Given the description of an element on the screen output the (x, y) to click on. 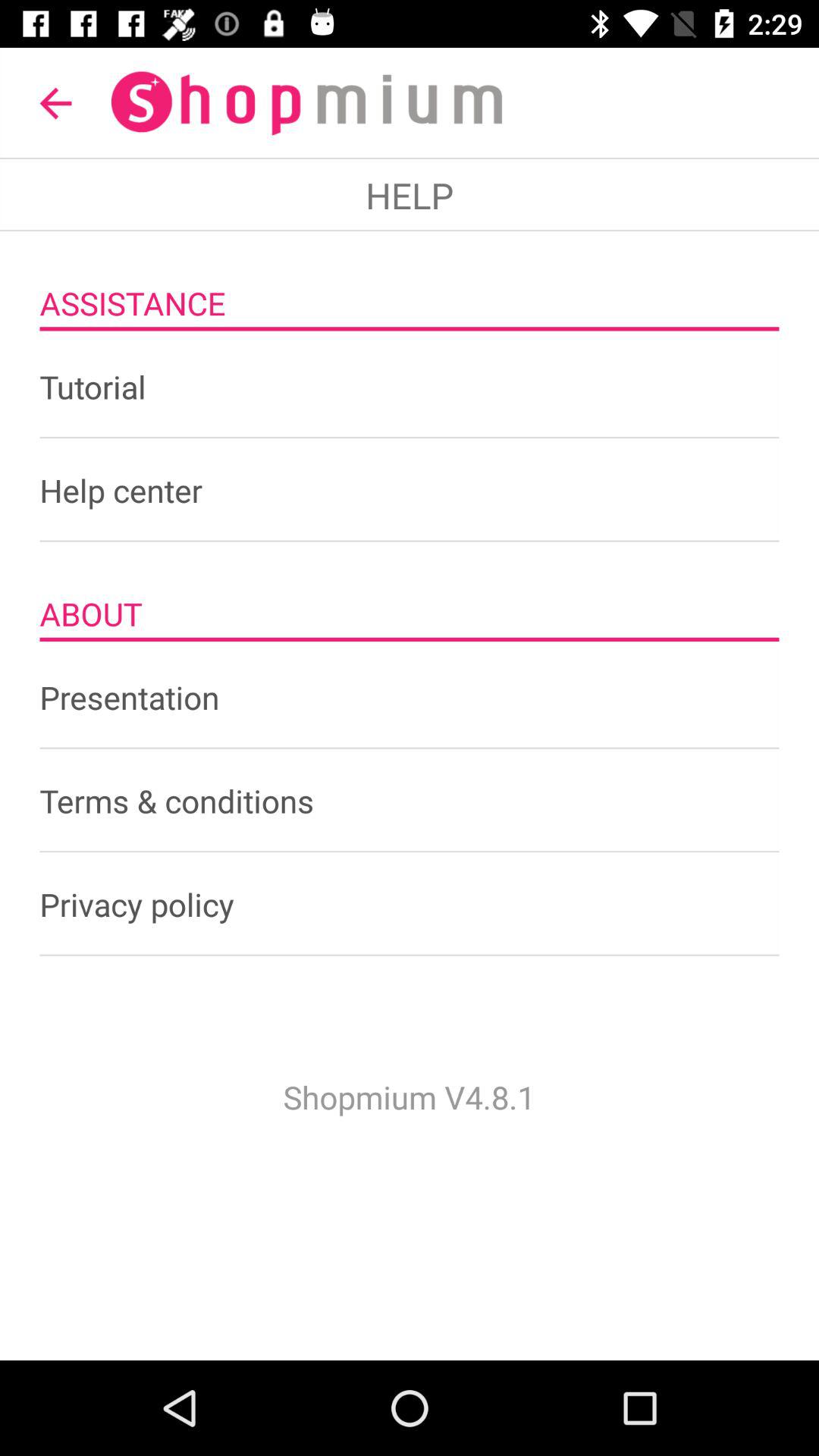
flip to the terms & conditions icon (409, 800)
